Given the description of an element on the screen output the (x, y) to click on. 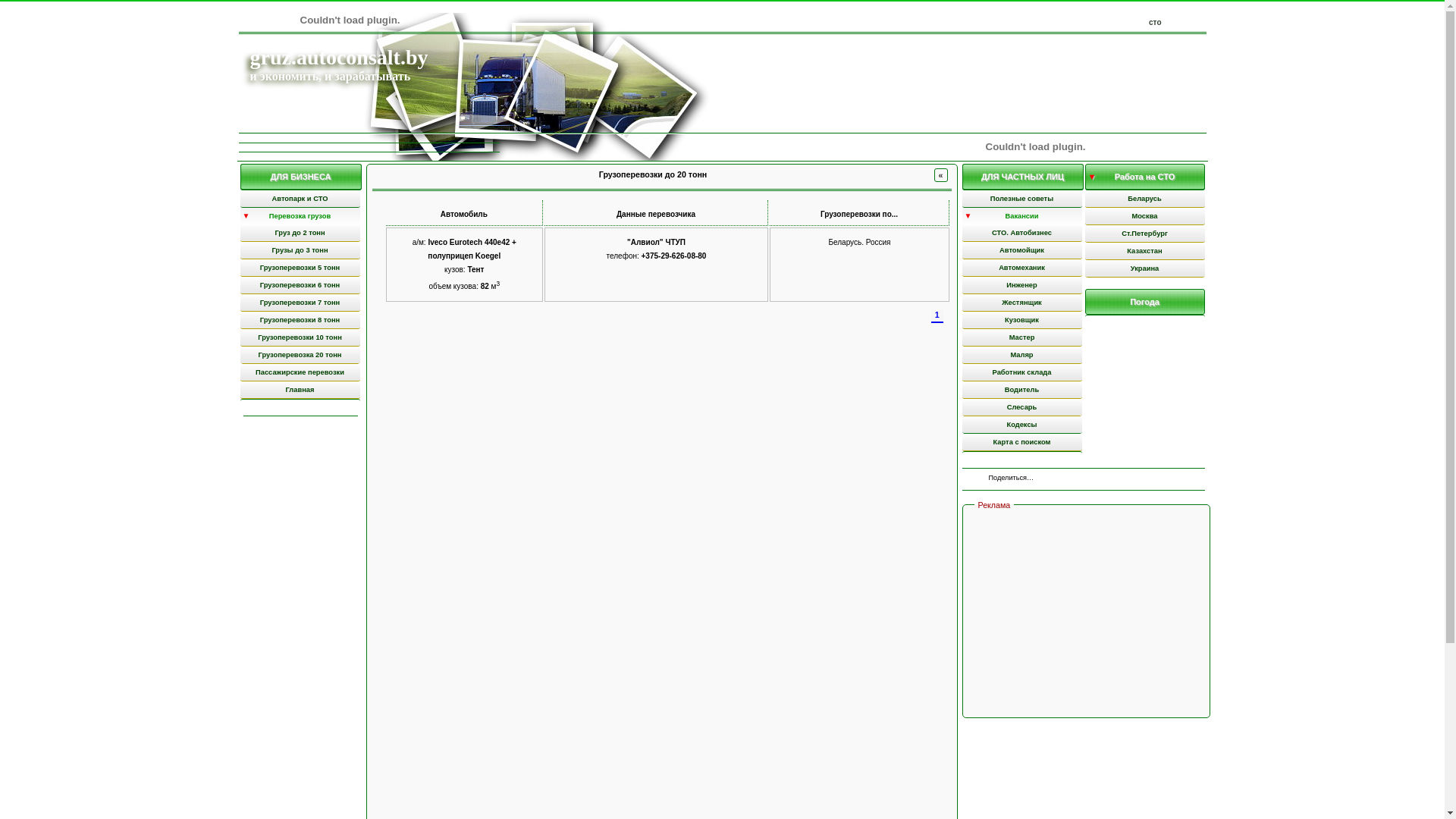
Twitter Element type: hover (1080, 479)
Advertisement Element type: hover (1087, 613)
LiveJournal Element type: hover (1128, 479)
Facebook Element type: hover (1065, 479)
